Given the description of an element on the screen output the (x, y) to click on. 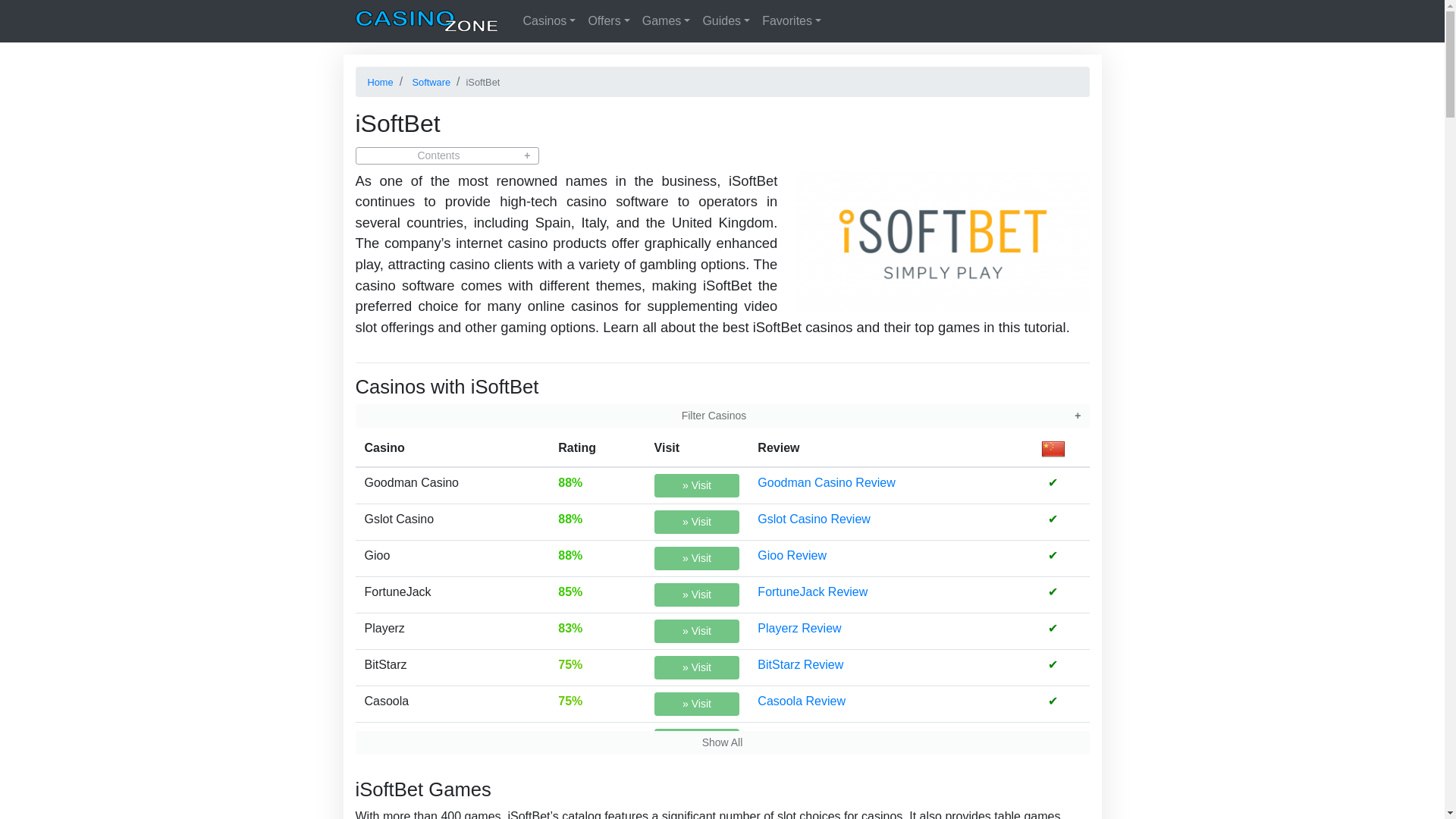
Guides (725, 20)
Casinos (549, 20)
Offers (607, 20)
Home (427, 20)
Games (666, 20)
